Given the description of an element on the screen output the (x, y) to click on. 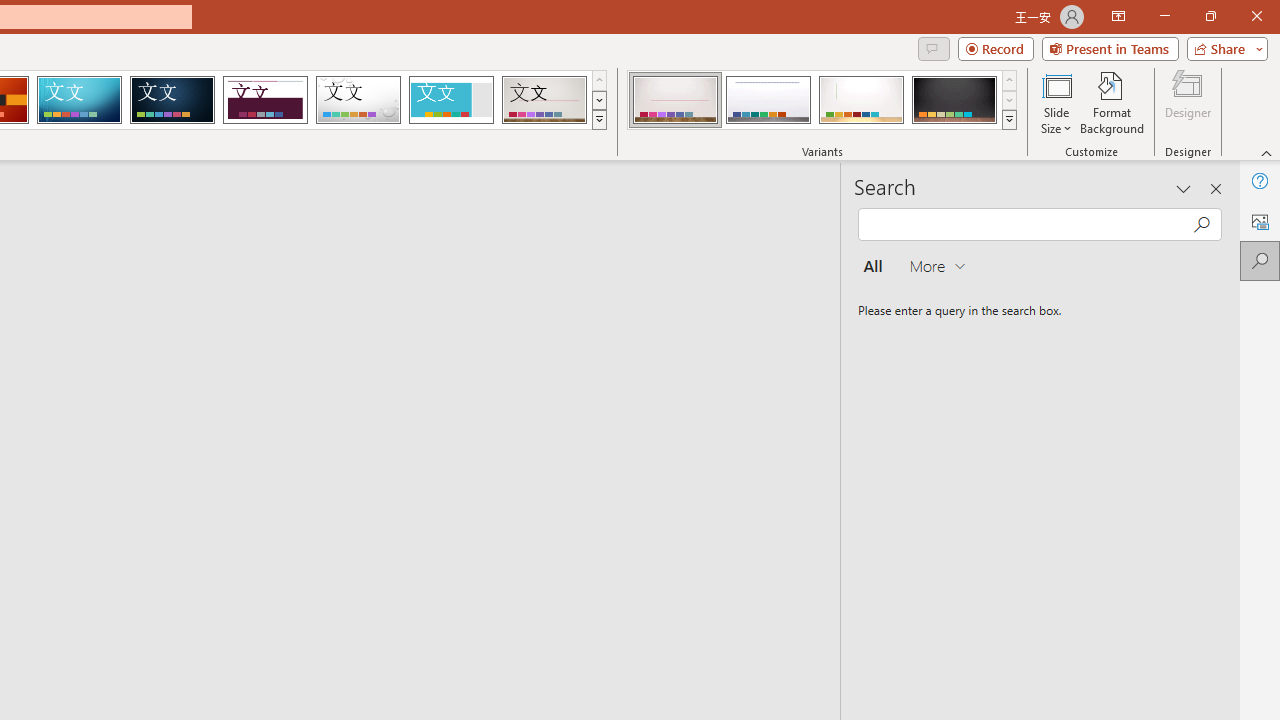
Variants (1009, 120)
Gallery Variant 1 (674, 100)
Circuit (79, 100)
Themes (598, 120)
Slide Size (1056, 102)
Gallery Variant 4 (953, 100)
Gallery (544, 100)
Gallery Variant 3 (861, 100)
